Given the description of an element on the screen output the (x, y) to click on. 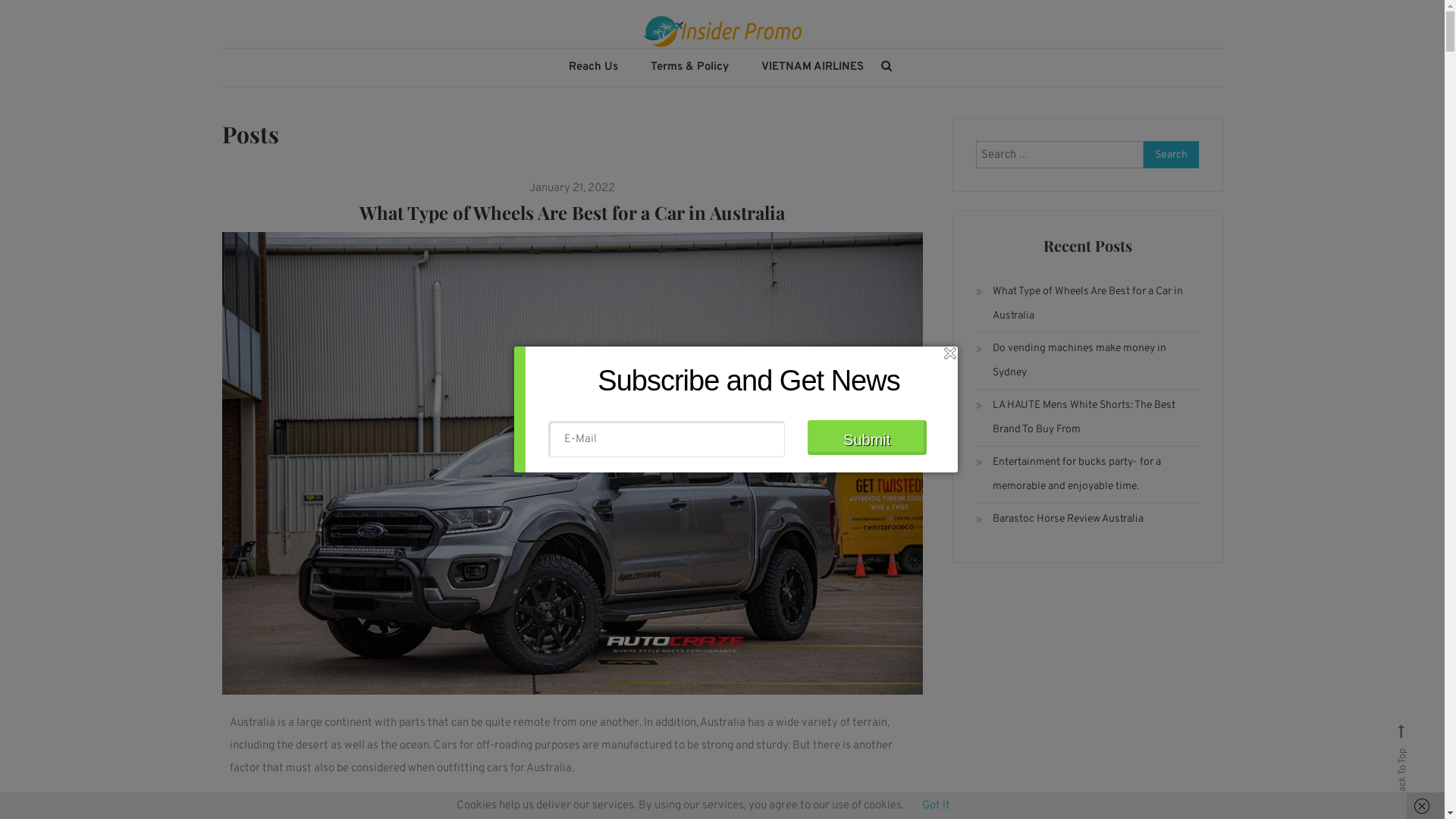
Got it Element type: text (936, 805)
Terms & Policy Element type: text (689, 67)
Search Element type: text (1171, 154)
VIETNAM AIRLINES Element type: text (812, 67)
Barastoc Horse Review Australia Element type: text (1059, 519)
What Type of Wheels Are Best for a Car in Australia Element type: text (1086, 303)
What Type of Wheels Are Best for a Car in Australia Element type: text (571, 212)
Search Element type: text (768, 432)
Submit Element type: text (865, 437)
Reach Us Element type: text (593, 67)
Insider Promo Element type: text (343, 72)
LA HAUTE Mens White Shorts: The Best Brand To Buy From Element type: text (1086, 417)
Do vending machines make money in Sydney Element type: text (1086, 360)
